Given the description of an element on the screen output the (x, y) to click on. 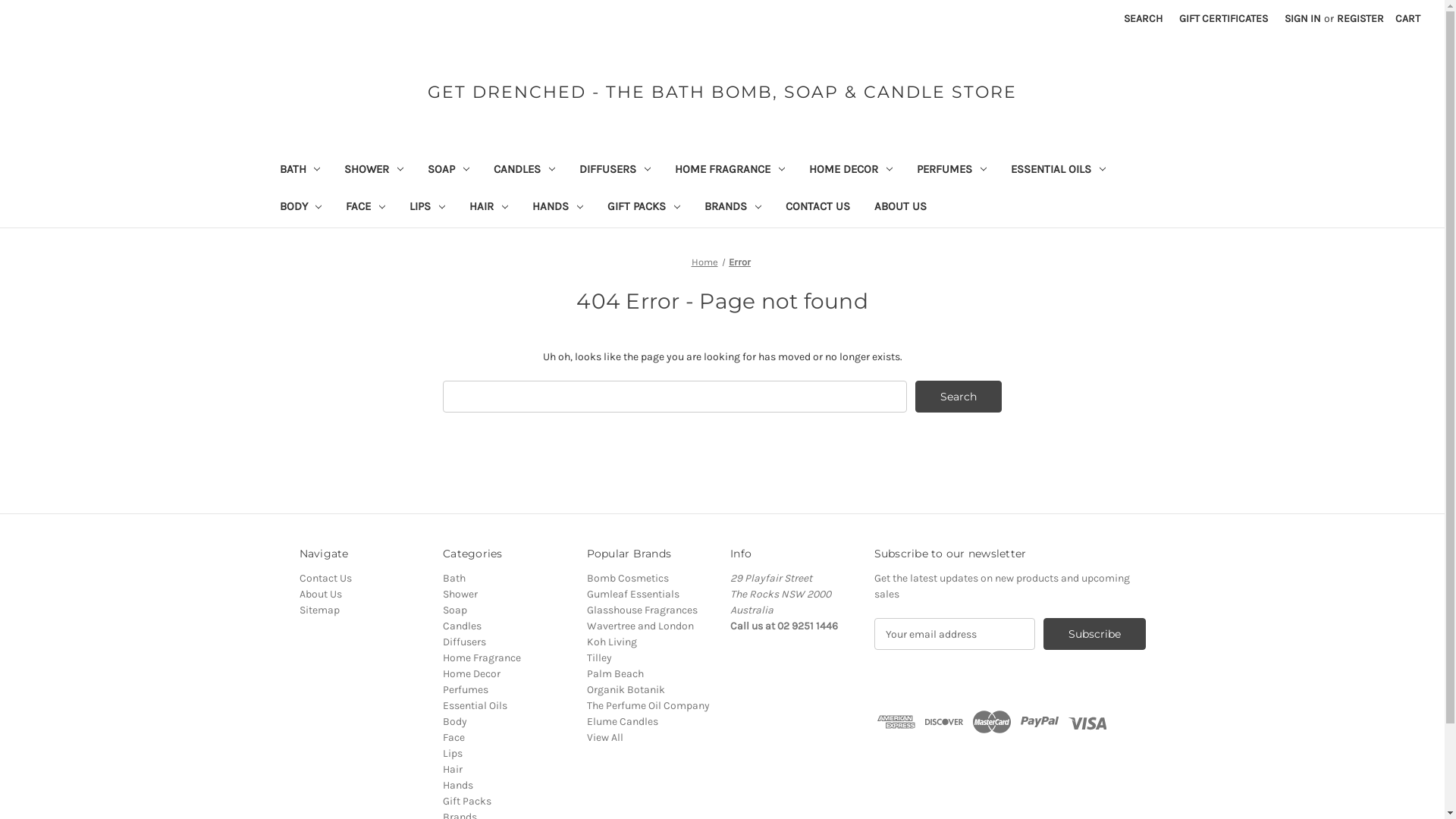
HOME DECOR Element type: text (850, 170)
Error Element type: text (739, 261)
Gift Packs Element type: text (466, 800)
Shower Element type: text (459, 593)
Subscribe Element type: text (1094, 633)
BRANDS Element type: text (732, 207)
Essential Oils Element type: text (474, 705)
GET DRENCHED - THE BATH BOMB, SOAP & CANDLE STORE Element type: text (722, 91)
Lips Element type: text (452, 752)
Home Element type: text (704, 261)
ESSENTIAL OILS Element type: text (1057, 170)
DIFFUSERS Element type: text (614, 170)
Soap Element type: text (454, 609)
BATH Element type: text (299, 170)
Perfumes Element type: text (465, 689)
GIFT CERTIFICATES Element type: text (1223, 18)
CART Element type: text (1407, 18)
GIFT PACKS Element type: text (643, 207)
Diffusers Element type: text (464, 641)
HAIR Element type: text (488, 207)
Body Element type: text (454, 721)
Organik Botanik Element type: text (625, 689)
Gumleaf Essentials Element type: text (632, 593)
Home Decor Element type: text (471, 673)
Palm Beach Element type: text (614, 673)
Bomb Cosmetics Element type: text (627, 577)
Search Element type: text (958, 396)
Hands Element type: text (457, 784)
SIGN IN Element type: text (1302, 18)
Sitemap Element type: text (318, 609)
CONTACT US Element type: text (817, 207)
FACE Element type: text (365, 207)
Bath Element type: text (453, 577)
ABOUT US Element type: text (900, 207)
Tilley Element type: text (598, 657)
About Us Element type: text (319, 593)
REGISTER Element type: text (1360, 18)
SHOWER Element type: text (373, 170)
Face Element type: text (453, 737)
CANDLES Element type: text (524, 170)
View All Element type: text (604, 737)
BODY Element type: text (299, 207)
PERFUMES Element type: text (951, 170)
Hair Element type: text (452, 768)
SEARCH Element type: text (1142, 18)
Home Fragrance Element type: text (481, 657)
Glasshouse Fragrances Element type: text (641, 609)
Koh Living Element type: text (611, 641)
SOAP Element type: text (448, 170)
HANDS Element type: text (557, 207)
Contact Us Element type: text (324, 577)
LIPS Element type: text (427, 207)
The Perfume Oil Company Element type: text (647, 705)
Wavertree and London Element type: text (639, 625)
Elume Candles Element type: text (622, 721)
Candles Element type: text (461, 625)
HOME FRAGRANCE Element type: text (729, 170)
